Given the description of an element on the screen output the (x, y) to click on. 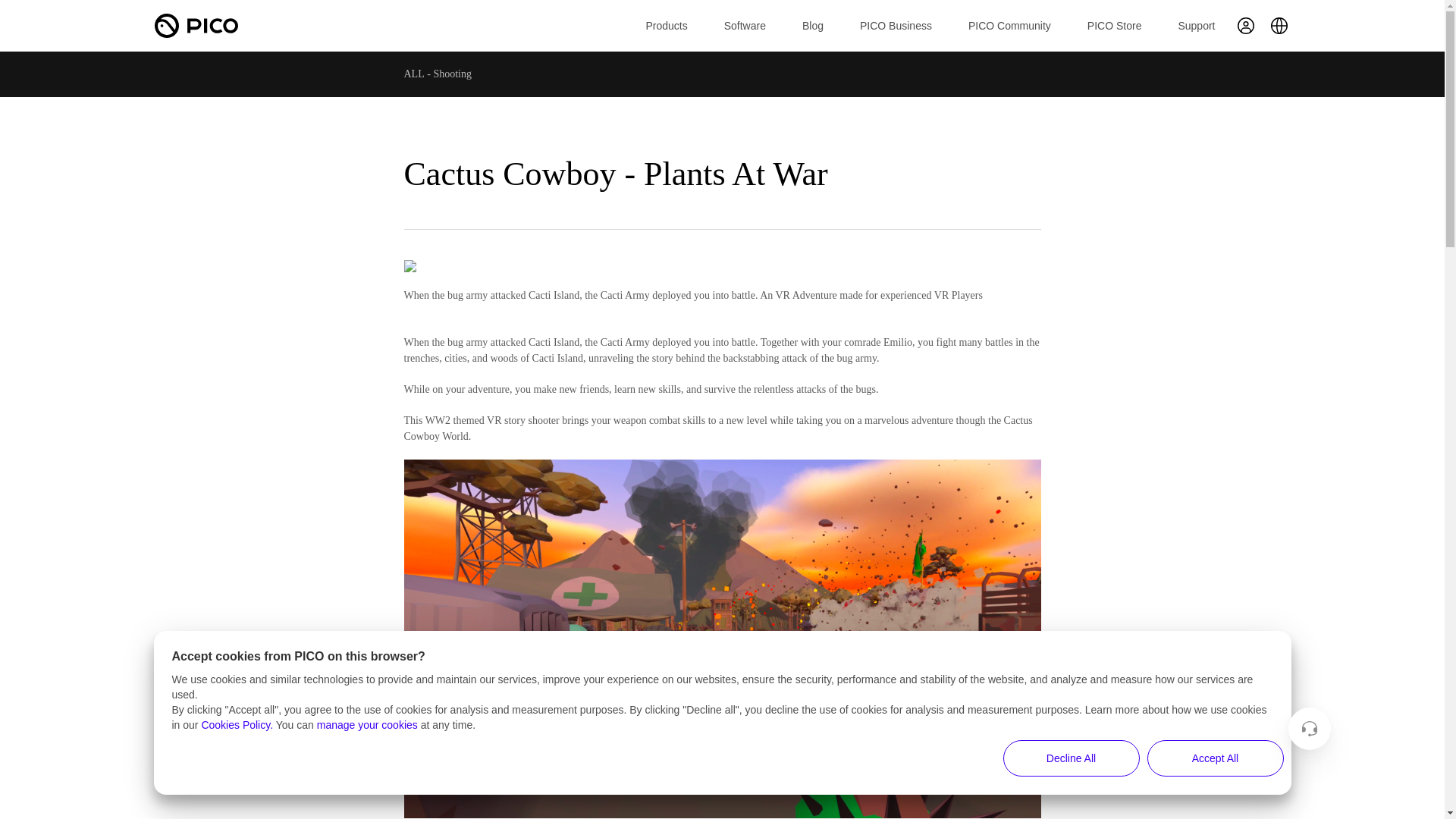
Blog (813, 25)
PICO Business (895, 25)
PICO Community (1009, 25)
PICO Store (1114, 25)
Support (1195, 25)
